Given the description of an element on the screen output the (x, y) to click on. 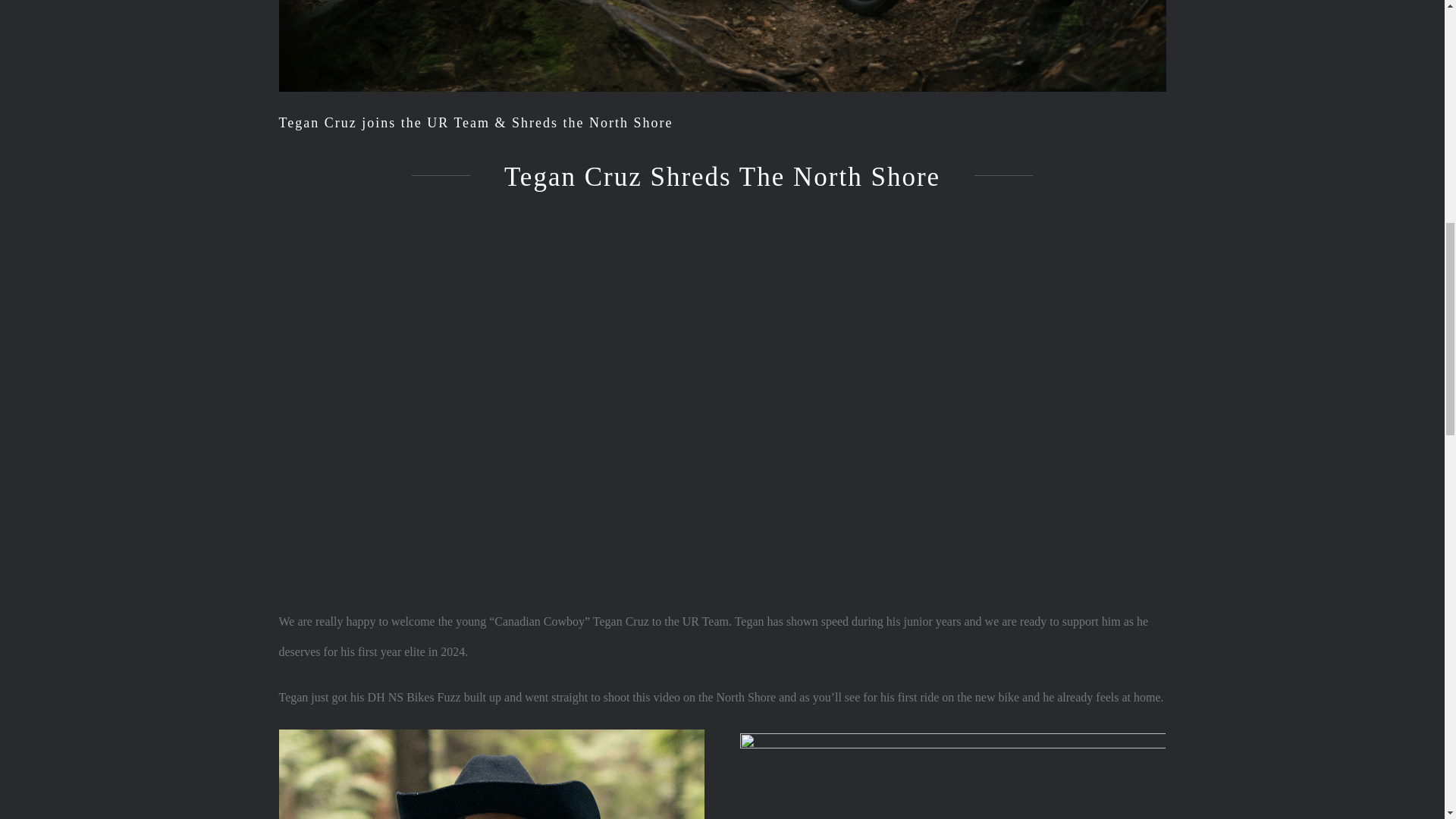
View Larger Image (722, 45)
